Given the description of an element on the screen output the (x, y) to click on. 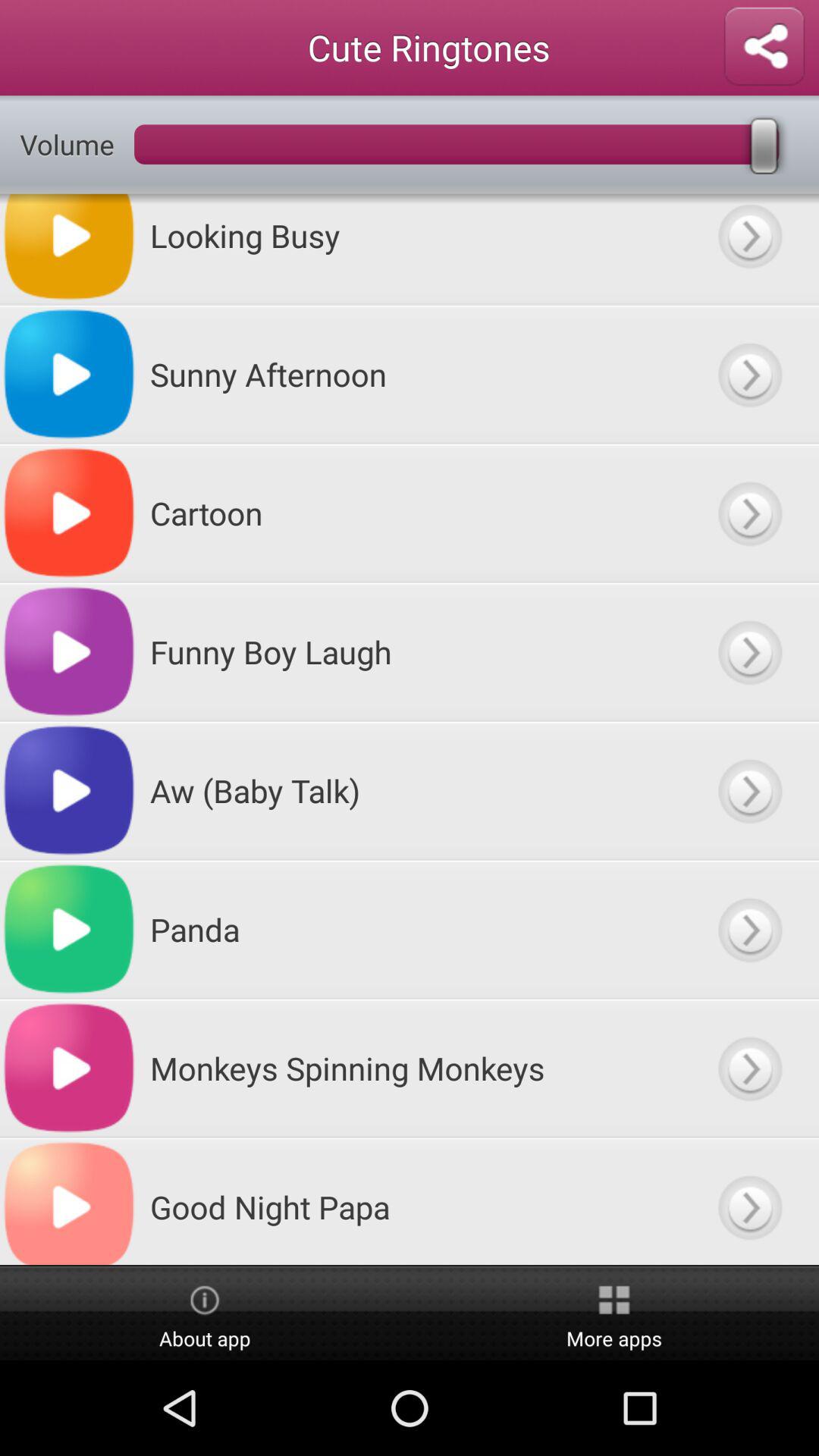
setting page (764, 47)
